Given the description of an element on the screen output the (x, y) to click on. 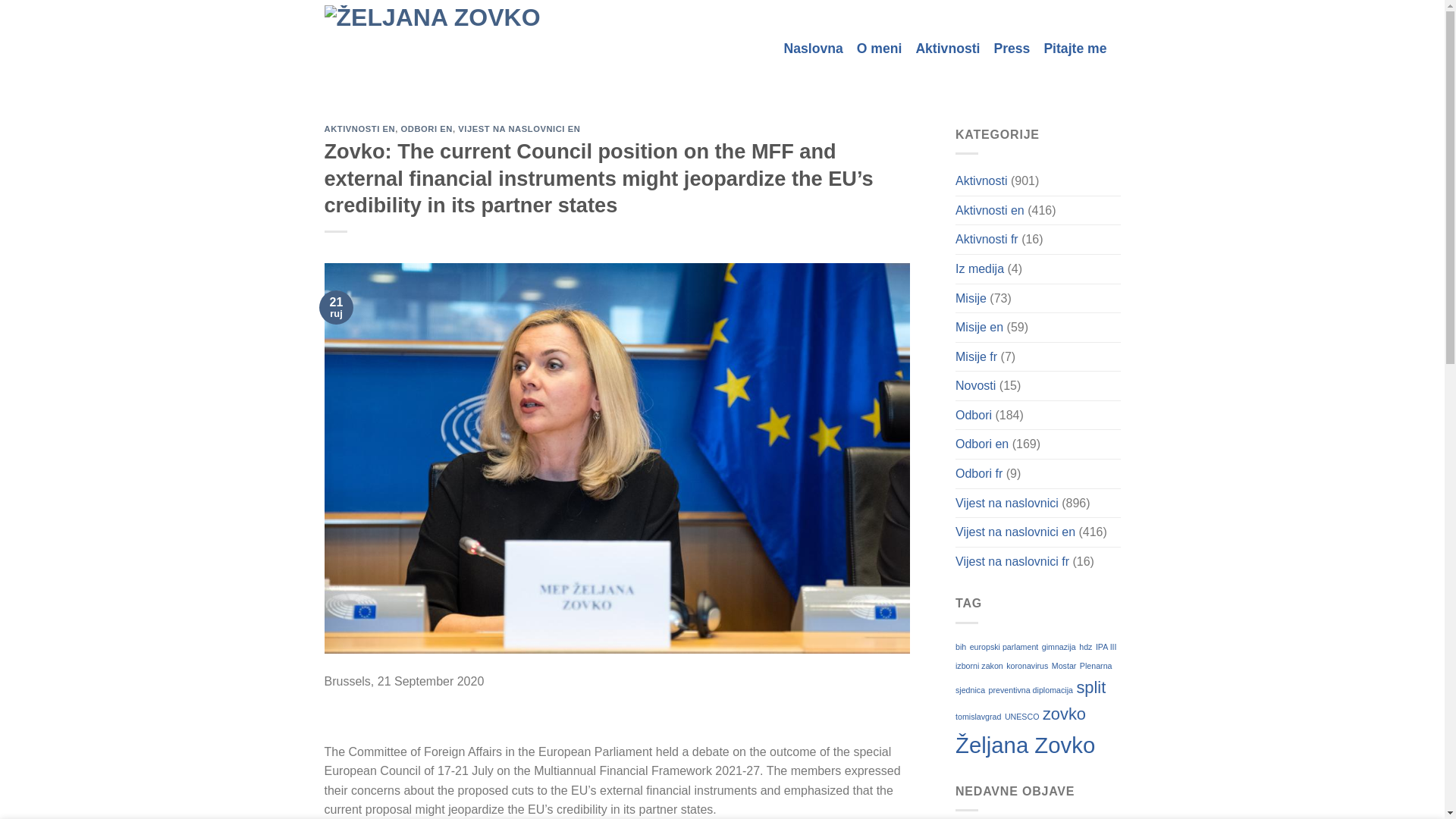
Misije en (979, 327)
Vijest na naslovnici (1006, 502)
Iz medija (979, 268)
AKTIVNOSTI EN (360, 128)
Aktivnosti en (990, 210)
Vijest na naslovnici fr (1011, 561)
Pitajte me (1074, 50)
Misije (971, 298)
ODBORI EN (426, 128)
VIJEST NA NASLOVNICI EN (518, 128)
